Given the description of an element on the screen output the (x, y) to click on. 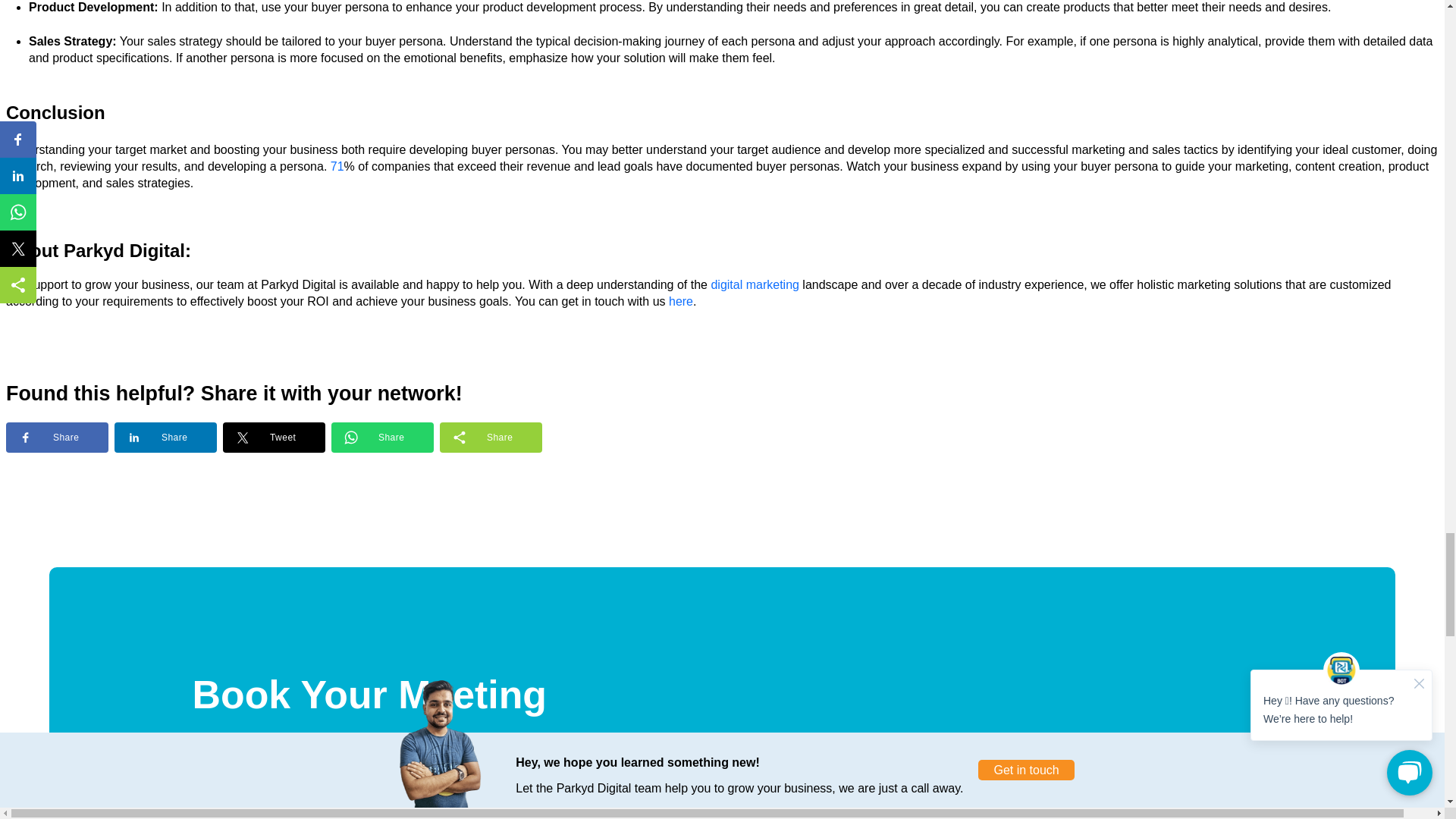
digital marketing (754, 284)
71 (336, 165)
here (680, 300)
Form 0 (722, 784)
